Given the description of an element on the screen output the (x, y) to click on. 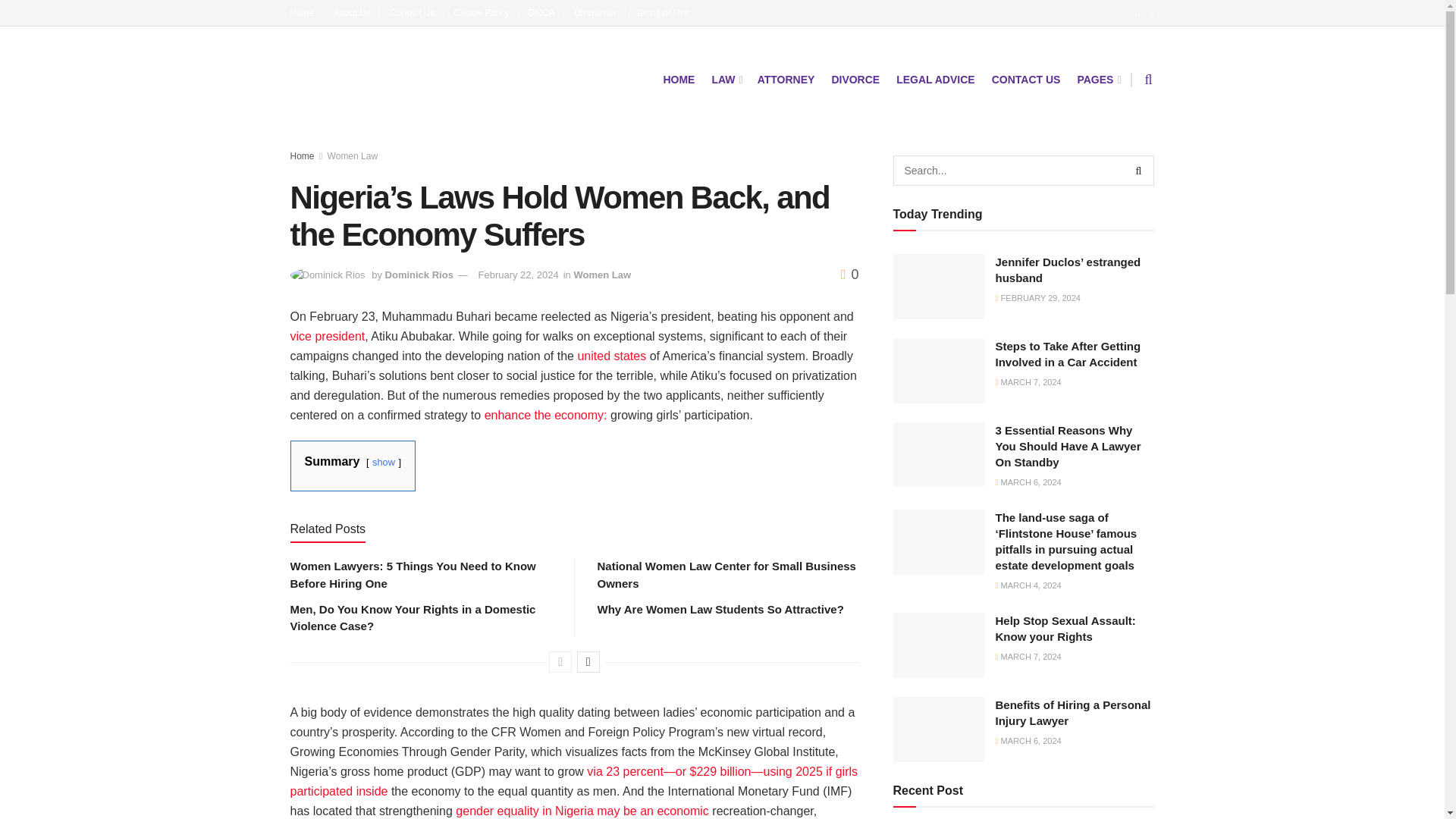
Terms of Use (661, 12)
ATTORNEY (786, 79)
HOME (678, 79)
CONTACT US (1026, 79)
LEGAL ADVICE (935, 79)
PAGES (1097, 79)
Cookie Policy (486, 12)
Home (306, 12)
Next (587, 661)
Contact Us (417, 12)
